Given the description of an element on the screen output the (x, y) to click on. 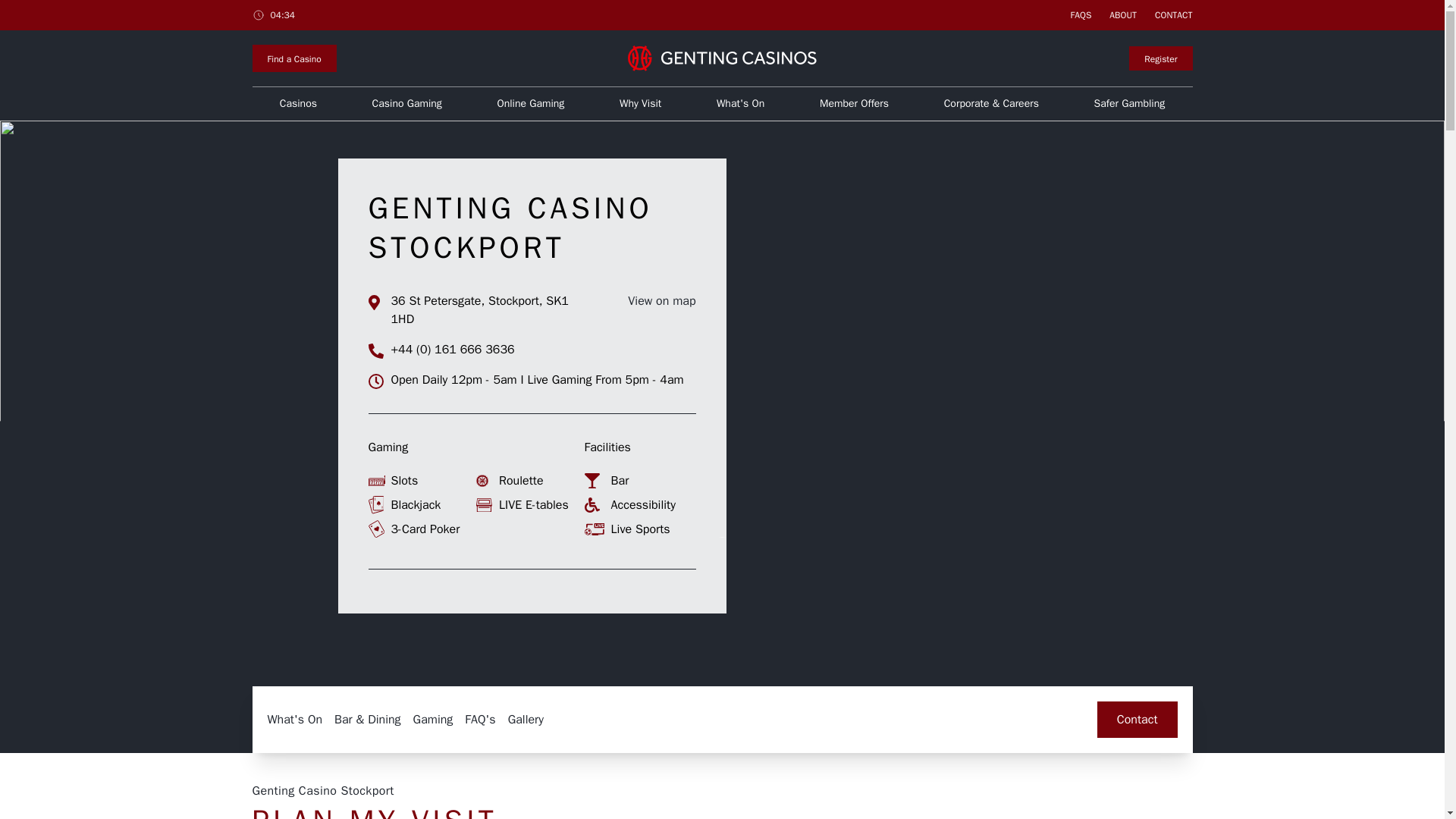
LIVE E-tables (530, 505)
Online Gaming (530, 103)
Why Visit (640, 103)
Gallery (525, 719)
FAQS (1081, 15)
Gaming (432, 719)
FAQ's (479, 719)
What's On (740, 103)
Slots (422, 480)
Find a Casino (293, 58)
